Given the description of an element on the screen output the (x, y) to click on. 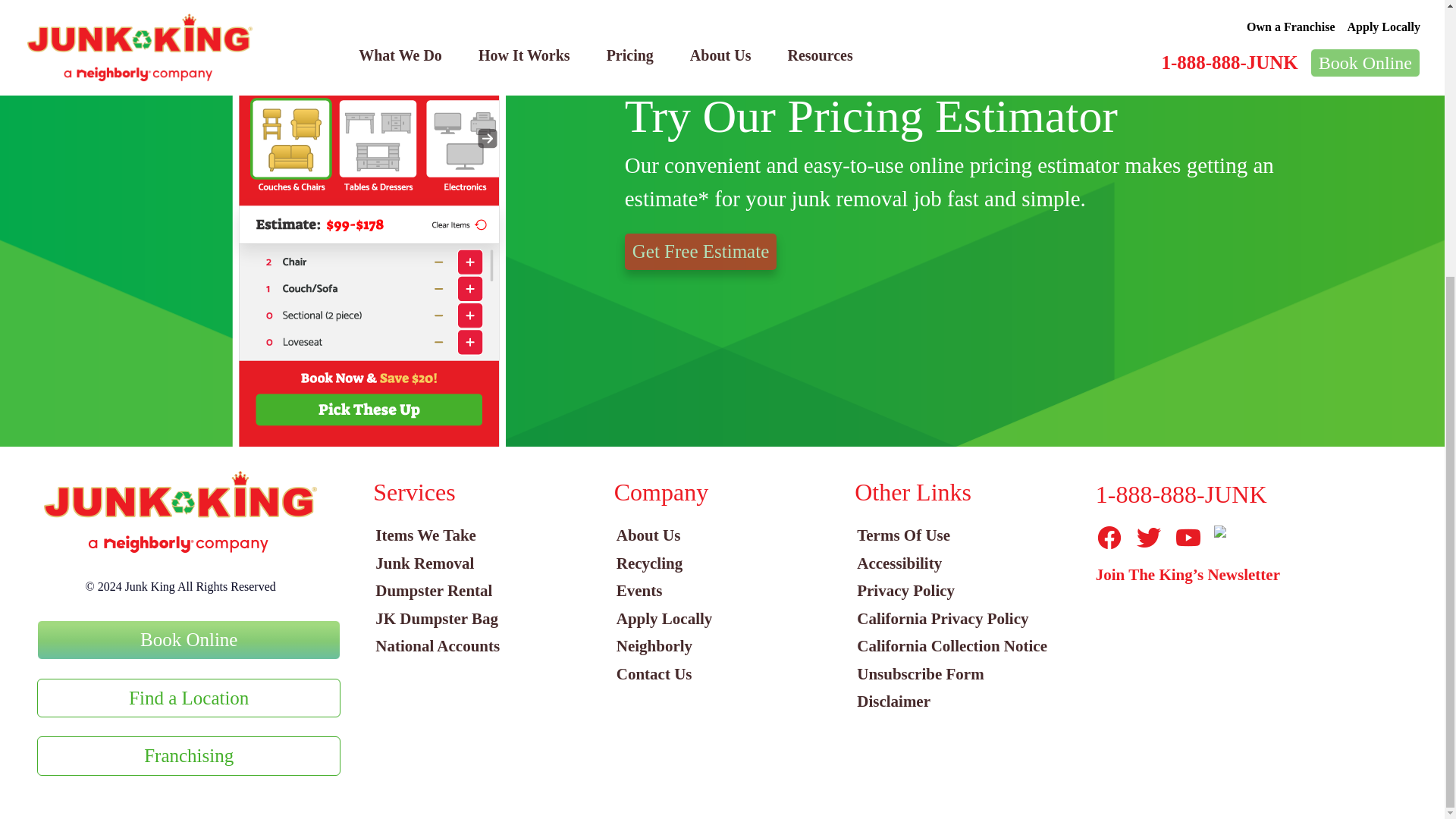
logo (180, 511)
social icon (1109, 537)
social icon (1148, 537)
